Given the description of an element on the screen output the (x, y) to click on. 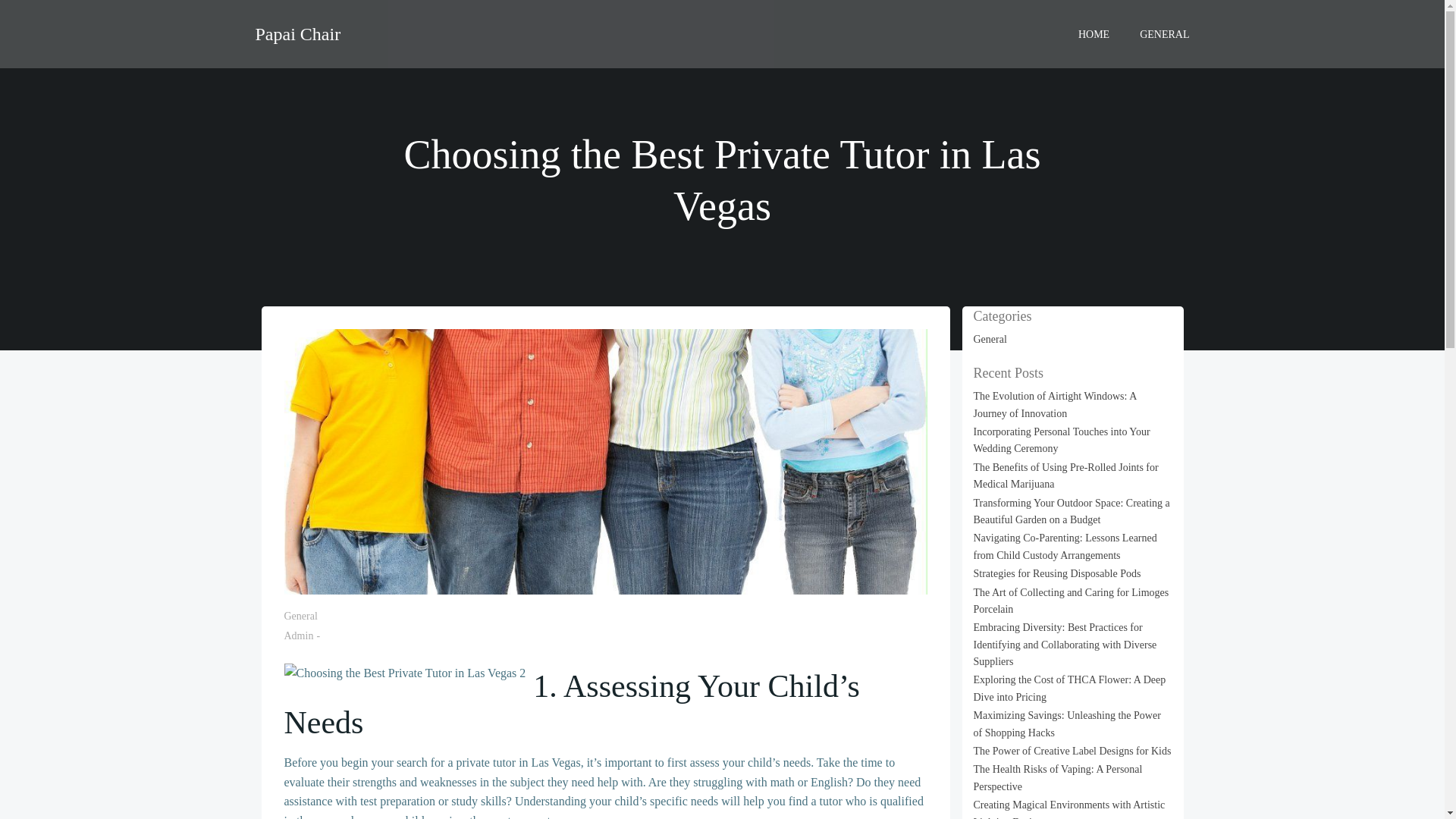
General (300, 616)
Exploring the Cost of THCA Flower: A Deep Dive into Pricing (1070, 687)
HOME (1093, 33)
The Health Risks of Vaping: A Personal Perspective (1058, 777)
Creating Magical Environments with Artistic Lighting Design (1070, 809)
GENERAL (1164, 33)
The Art of Collecting and Caring for Limoges Porcelain (1071, 601)
The Power of Creative Label Designs for Kids (1073, 750)
Papai Chair (297, 33)
Maximizing Savings: Unleashing the Power of Shopping Hacks (1067, 723)
Admin (298, 635)
